Given the description of an element on the screen output the (x, y) to click on. 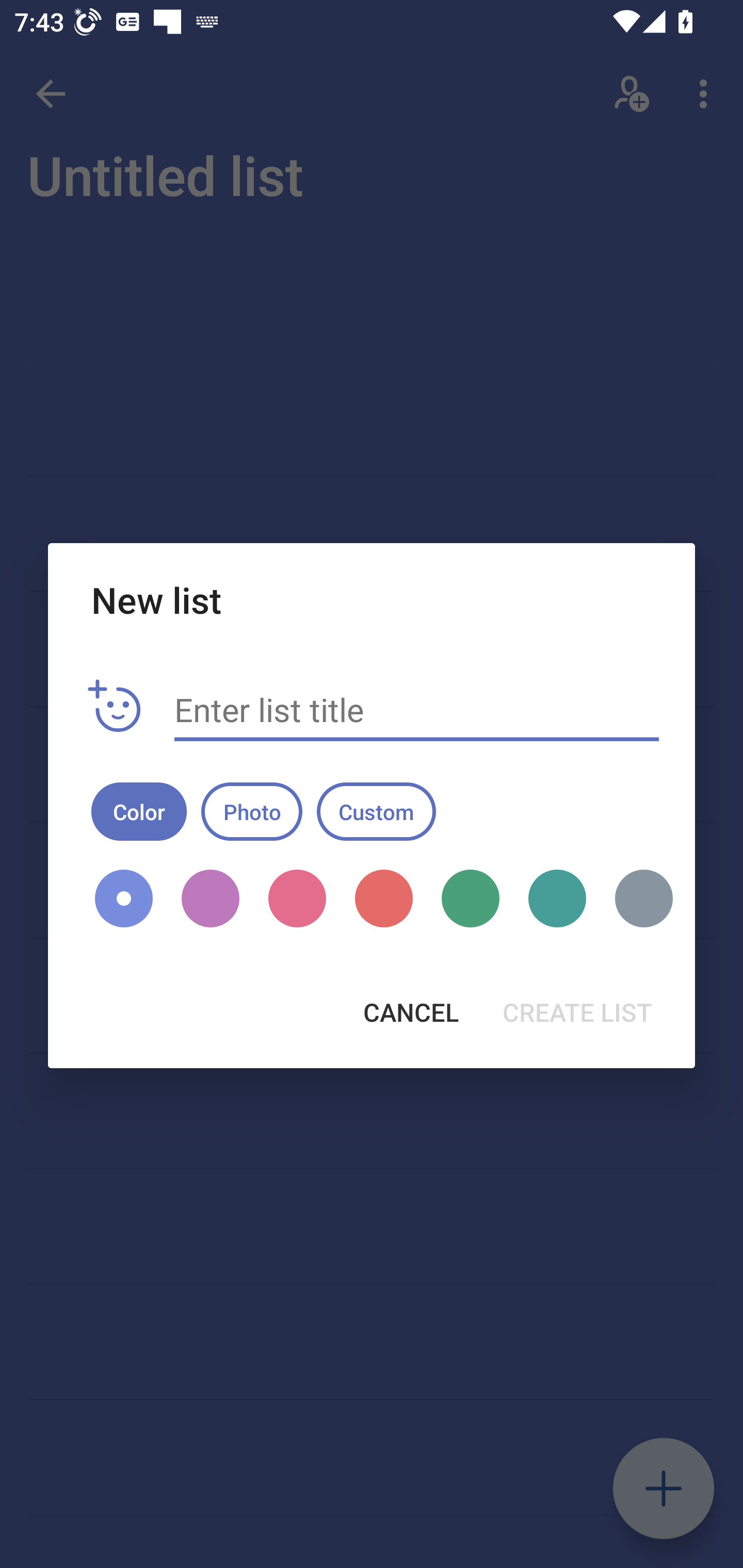
Set Emoji (114, 706)
Enter list title (416, 710)
Color Color category (138, 811)
Photo Photo category (251, 811)
Custom Custom category (376, 811)
Selected, Dark blue (123, 898)
Dark purple (210, 898)
Dark rose (297, 898)
Dark red (383, 898)
Dark green (470, 898)
Dark teal (557, 898)
Dark grey (636, 898)
CANCEL (410, 1011)
CREATE LIST (576, 1011)
